Given the description of an element on the screen output the (x, y) to click on. 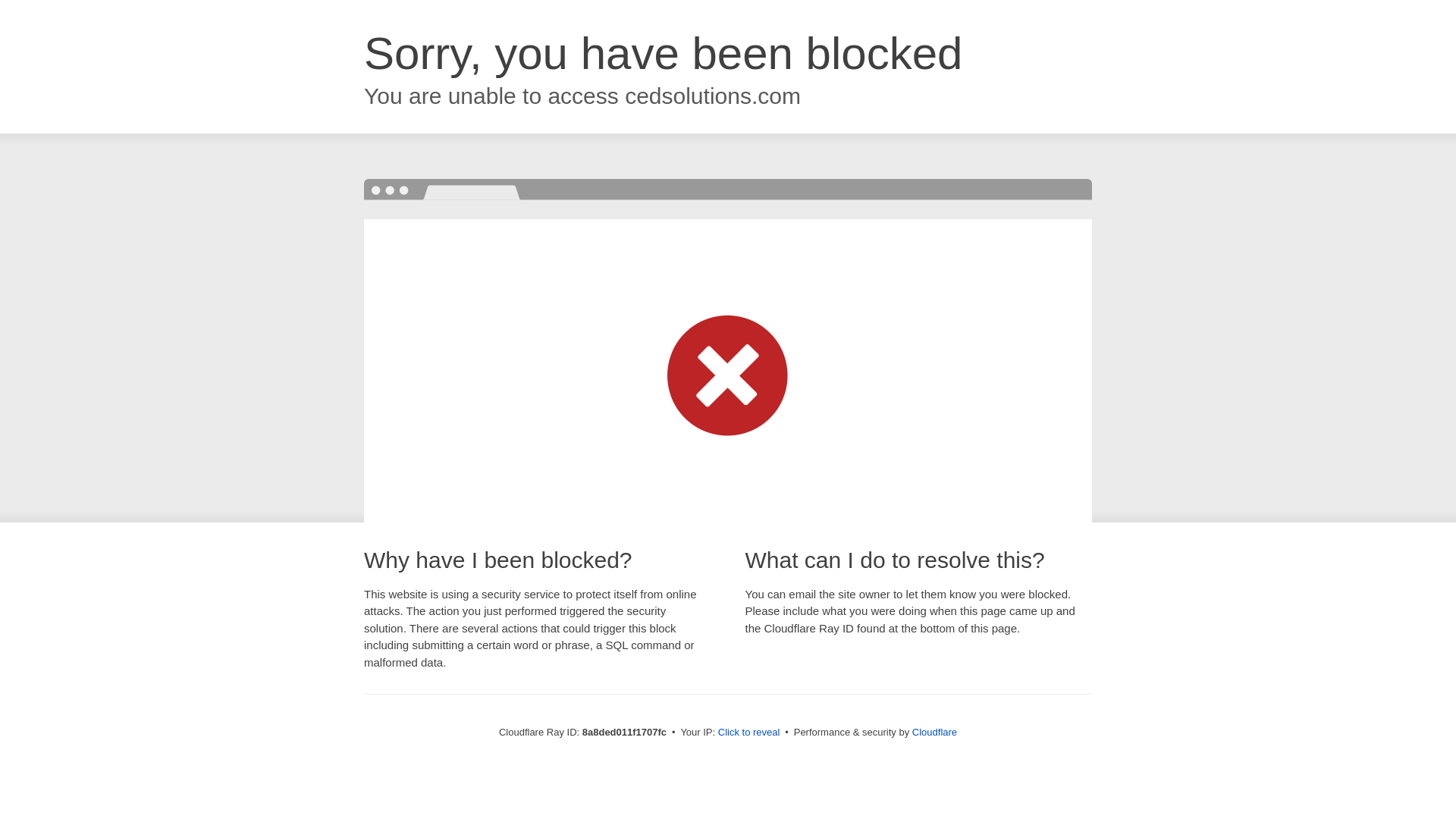
Cloudflare (934, 731)
Click to reveal (748, 732)
